Given the description of an element on the screen output the (x, y) to click on. 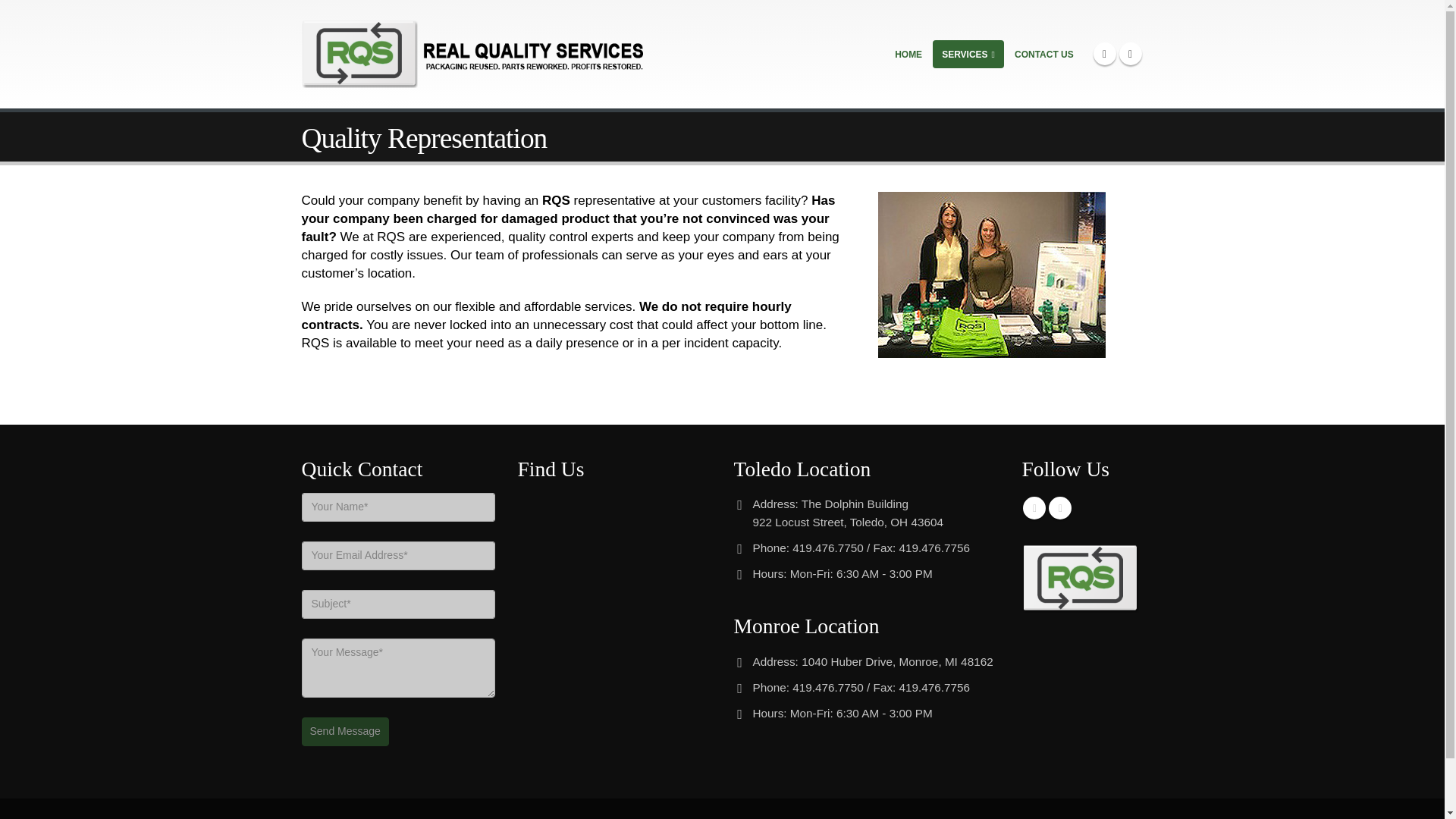
Facebook (1034, 507)
HOME (908, 53)
LinkedIn (1130, 53)
Facebook (1104, 53)
Facebook (1034, 507)
Send Message (344, 731)
SERVICES (968, 53)
Linkedin (1059, 507)
Linkedin (1059, 507)
